Given the description of an element on the screen output the (x, y) to click on. 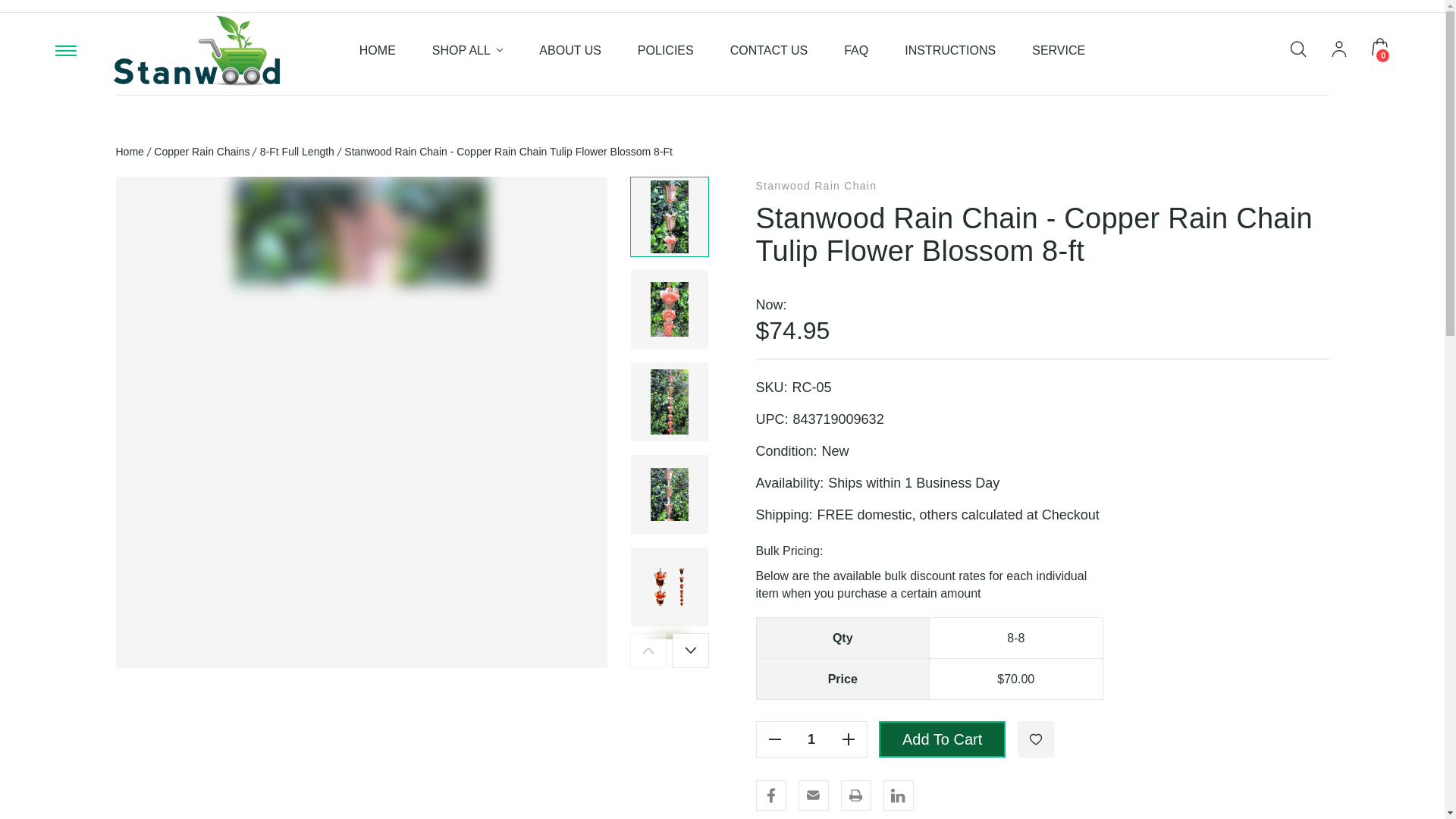
CONTACT US (769, 50)
POLICIES (665, 50)
Stanwood Imports (196, 50)
ABOUT US (569, 50)
INSTRUCTIONS (949, 50)
1 (811, 739)
SHOP ALL (467, 50)
SERVICE (1058, 50)
